Given the description of an element on the screen output the (x, y) to click on. 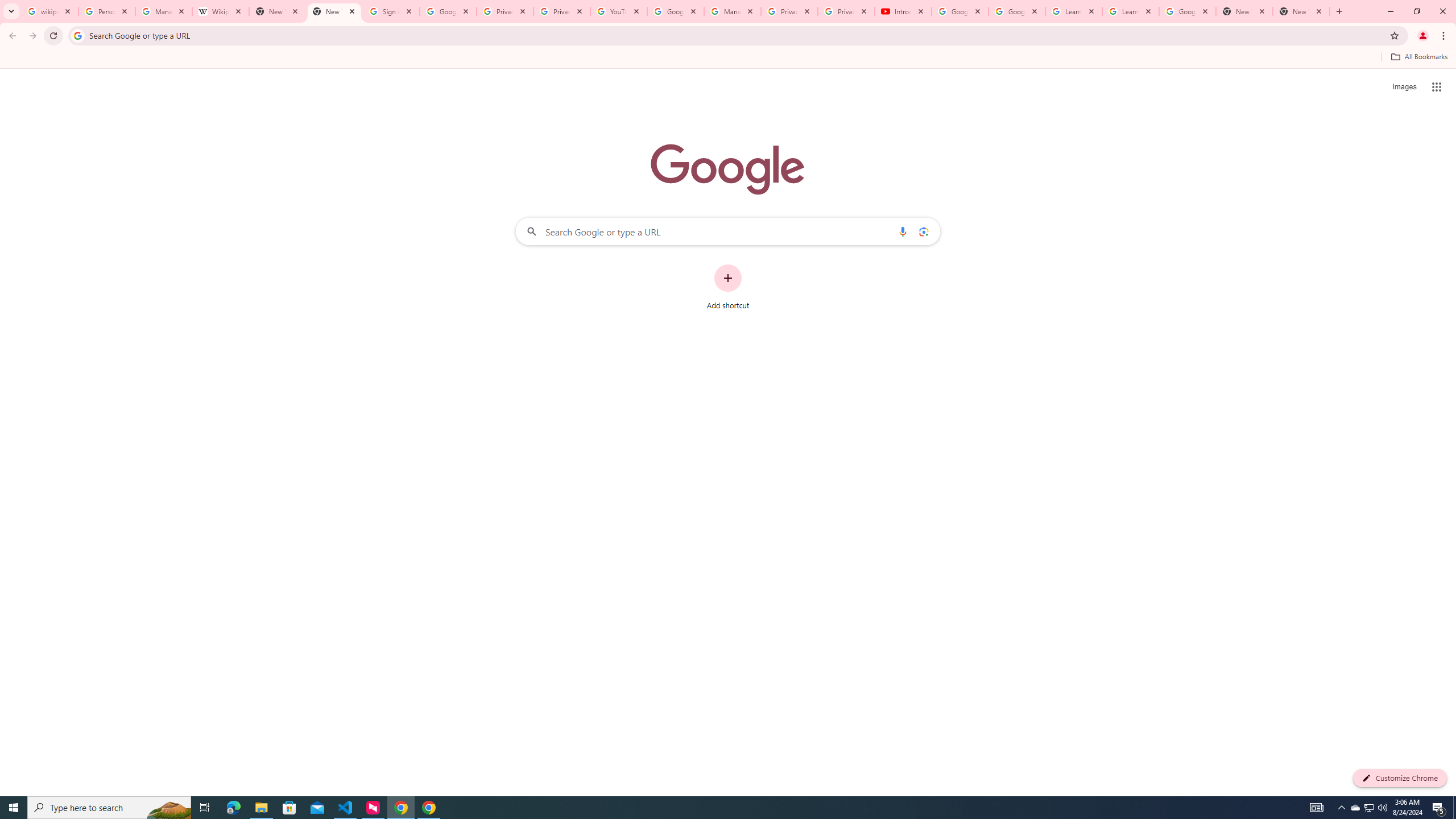
Google Account (1187, 11)
Google Account Help (675, 11)
